Given the description of an element on the screen output the (x, y) to click on. 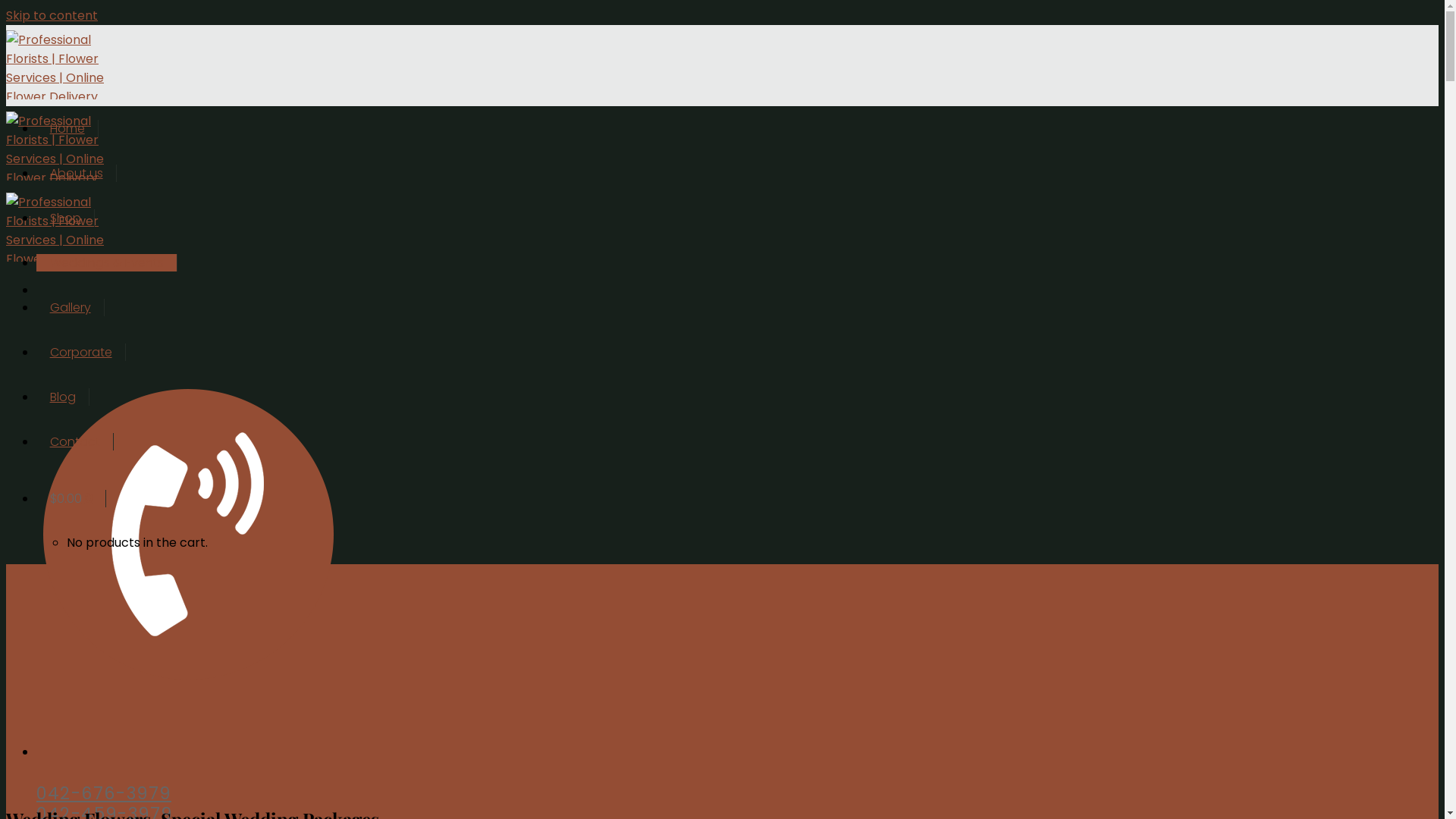
Gallery Element type: text (70, 307)
Weddings & Events Element type: text (106, 262)
Contact Element type: text (74, 441)
042-676-3979 Element type: text (103, 793)
Home Element type: text (67, 128)
Skip to content Element type: text (51, 15)
Shop Element type: text (65, 217)
About us Element type: text (76, 173)
$0.00 0 Element type: text (71, 498)
Blog Element type: text (62, 396)
Corporate Element type: text (80, 351)
